Given the description of an element on the screen output the (x, y) to click on. 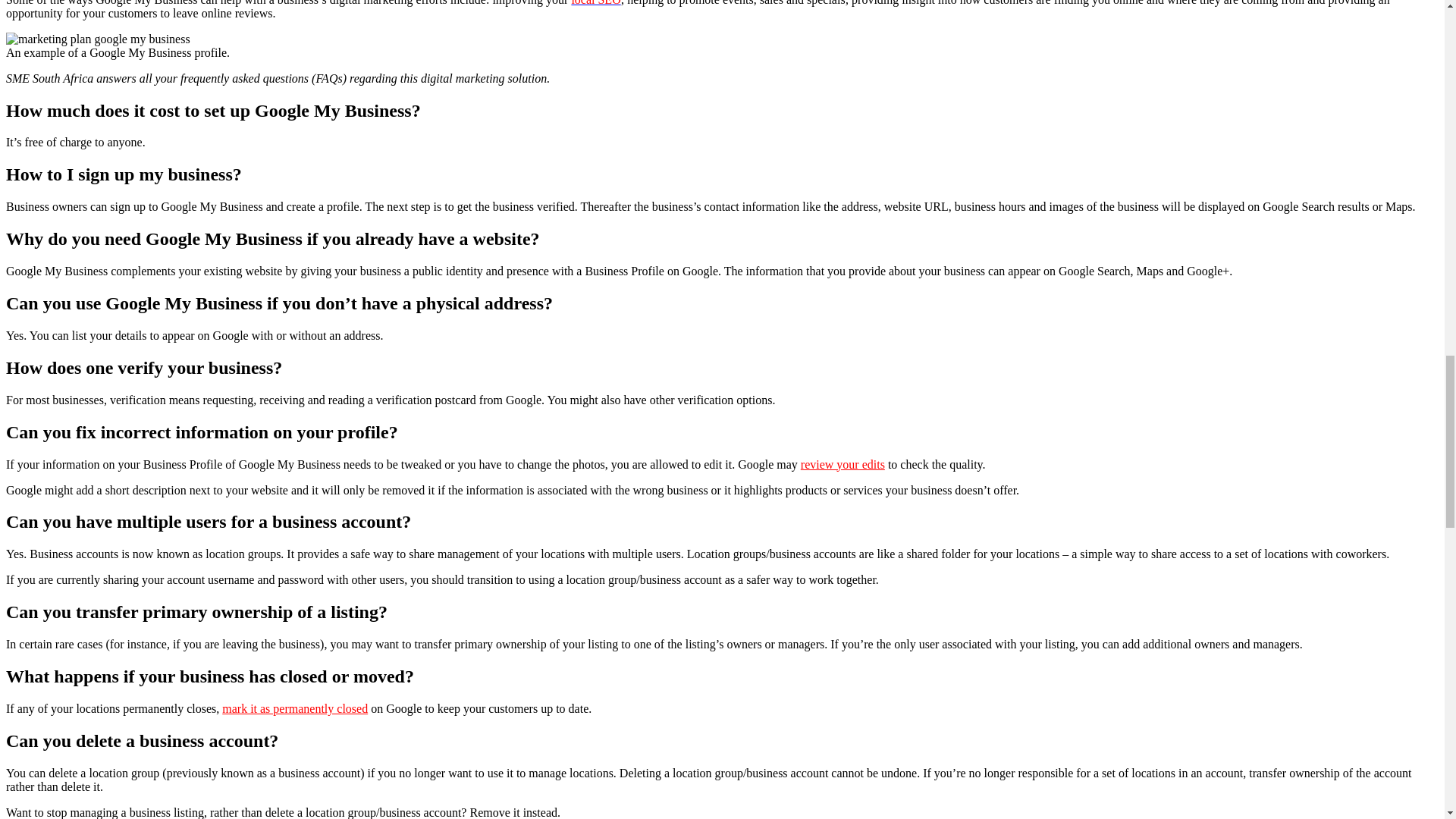
local SEO (595, 2)
review your edits (842, 463)
mark it as permanently closed (295, 707)
